Given the description of an element on the screen output the (x, y) to click on. 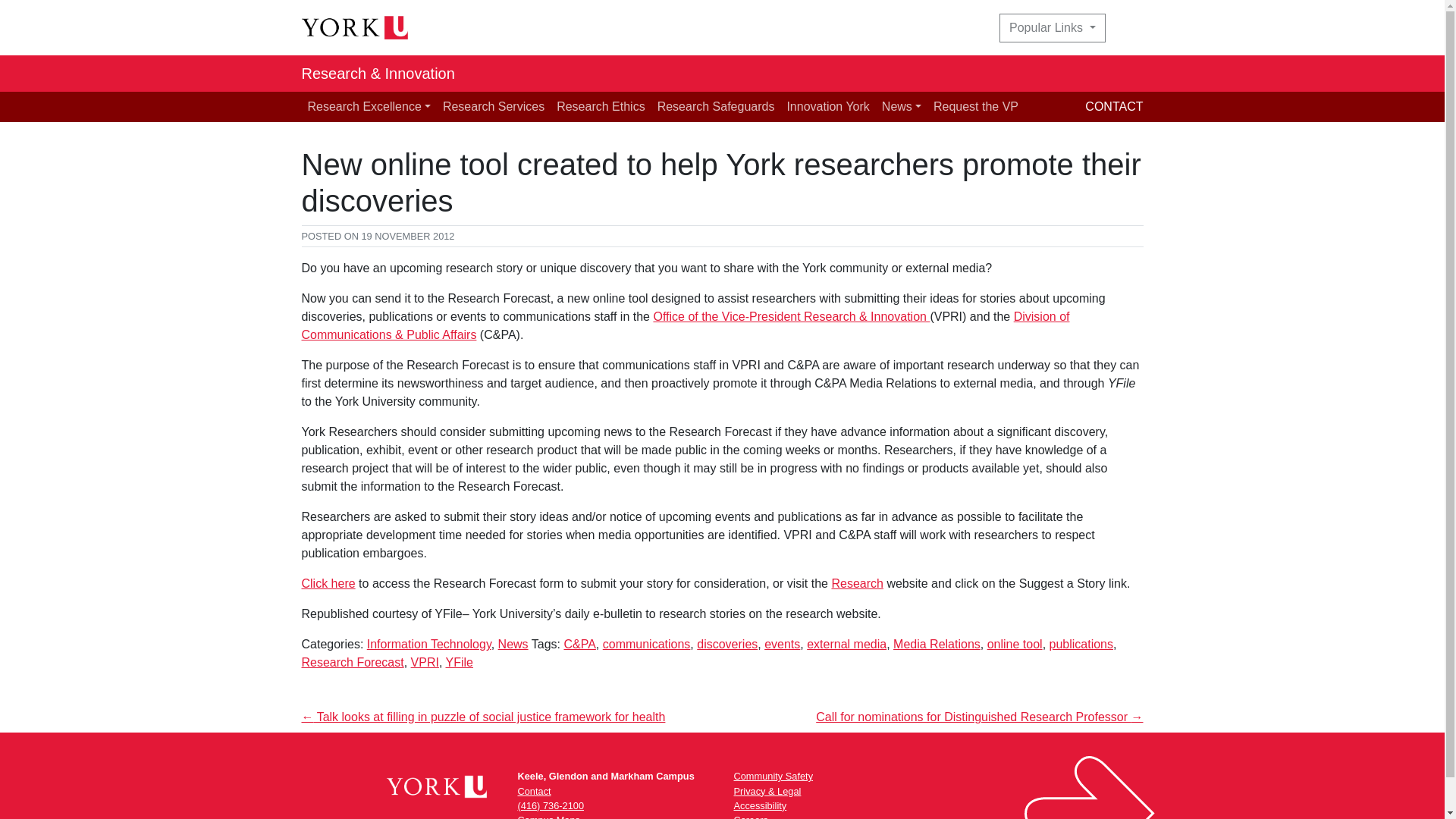
Research Excellence (368, 106)
events (781, 644)
Search (1133, 27)
Research Safeguards (715, 106)
News (512, 644)
Media Relations (936, 644)
Research Ethics (600, 106)
Information Technology (429, 644)
Request the VP (976, 106)
Innovation York (827, 106)
